Given the description of an element on the screen output the (x, y) to click on. 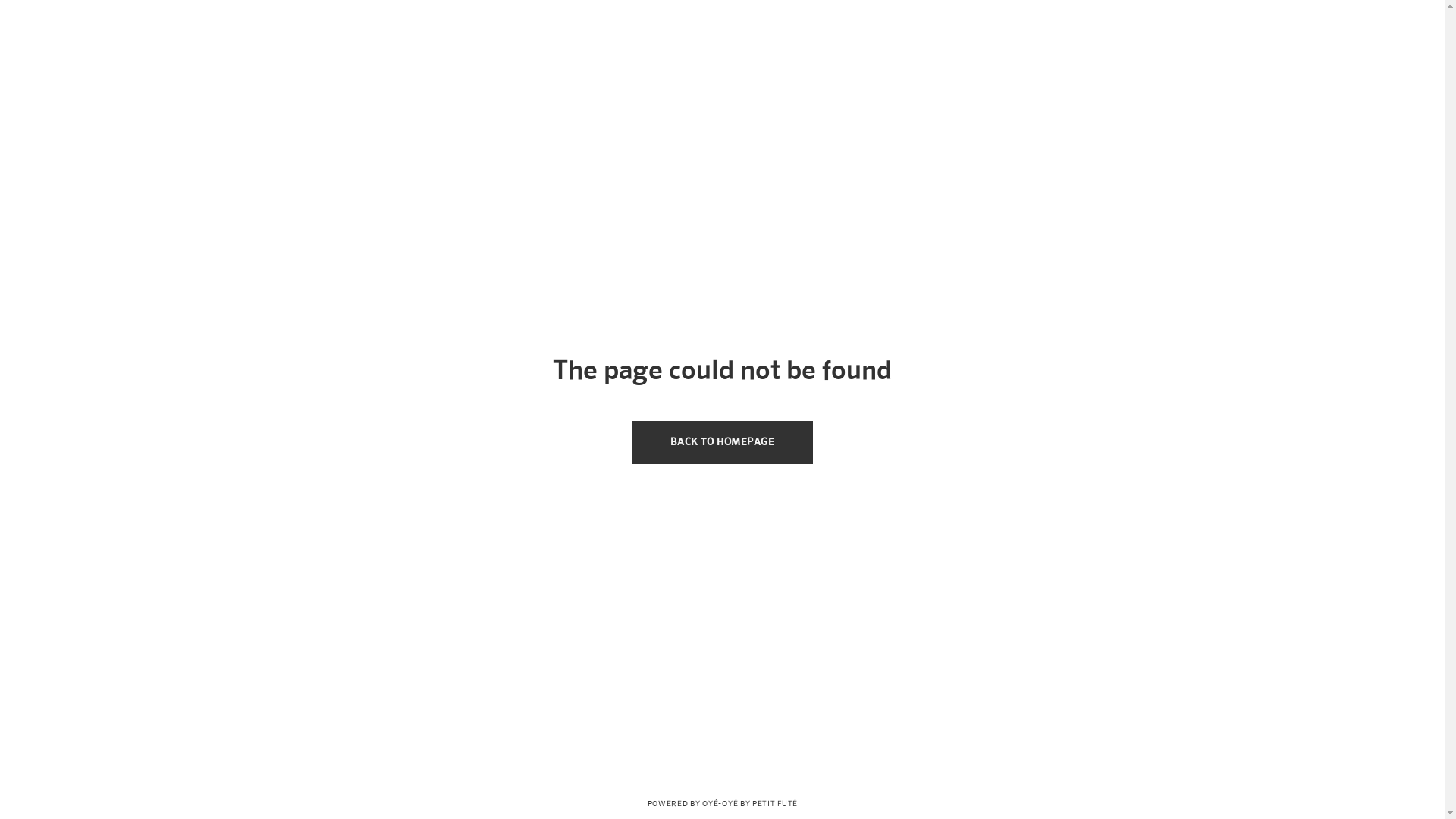
BACK TO HOMEPAGE Element type: text (721, 442)
